Given the description of an element on the screen output the (x, y) to click on. 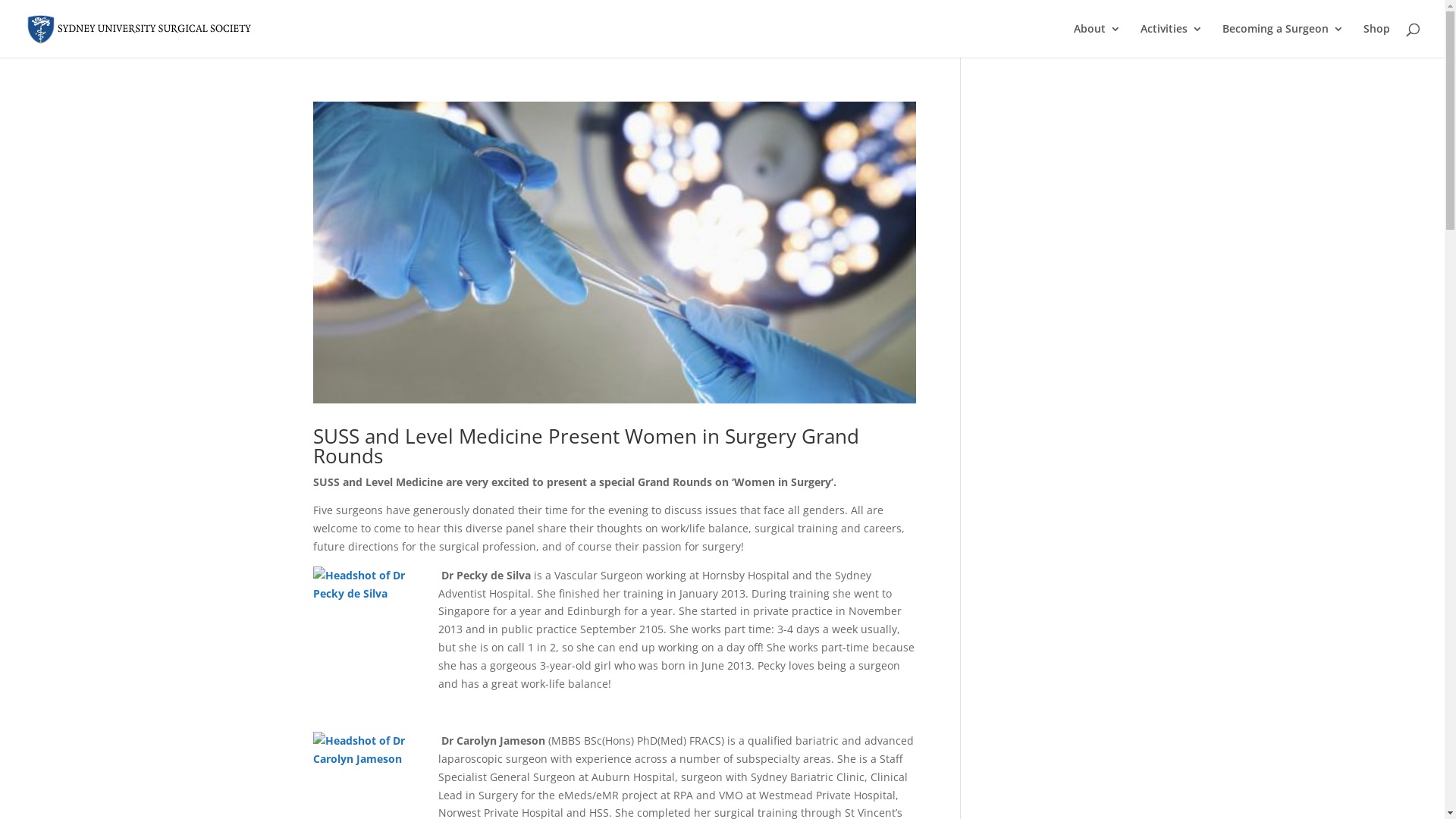
About Element type: text (1096, 40)
Activities Element type: text (1171, 40)
Shop Element type: text (1376, 40)
Becoming a Surgeon Element type: text (1282, 40)
